Given the description of an element on the screen output the (x, y) to click on. 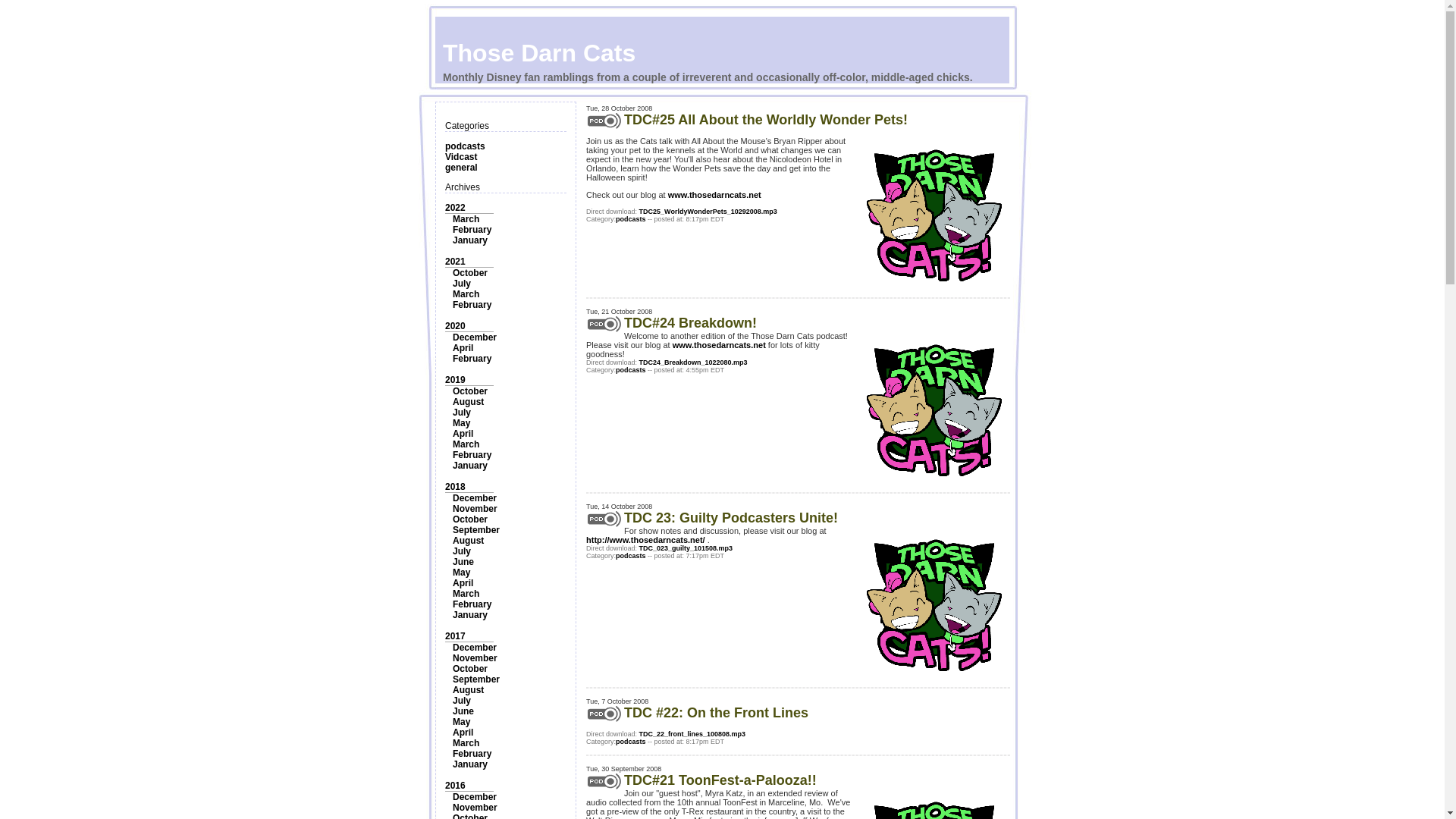
April (462, 583)
July (461, 551)
December (474, 647)
Vidcast (461, 156)
April (462, 433)
February (472, 357)
July (461, 412)
December (474, 337)
November (474, 508)
October (469, 272)
September (475, 529)
January (469, 465)
2022 (455, 207)
May (461, 422)
general (461, 167)
